Given the description of an element on the screen output the (x, y) to click on. 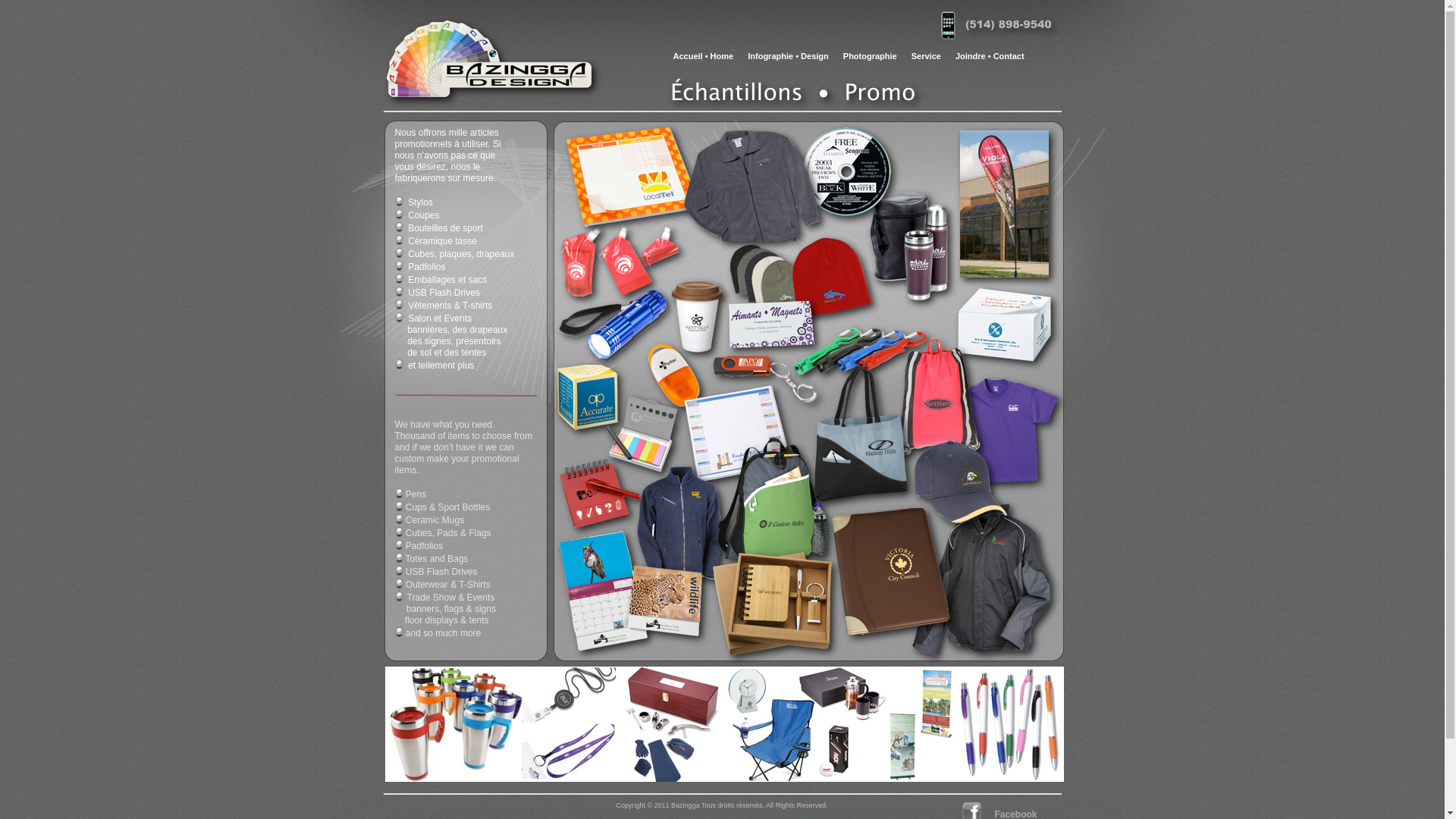
Photographie Element type: text (871, 55)
Service Element type: text (927, 55)
Accueil_Home.html Element type: hover (488, 96)
